Given the description of an element on the screen output the (x, y) to click on. 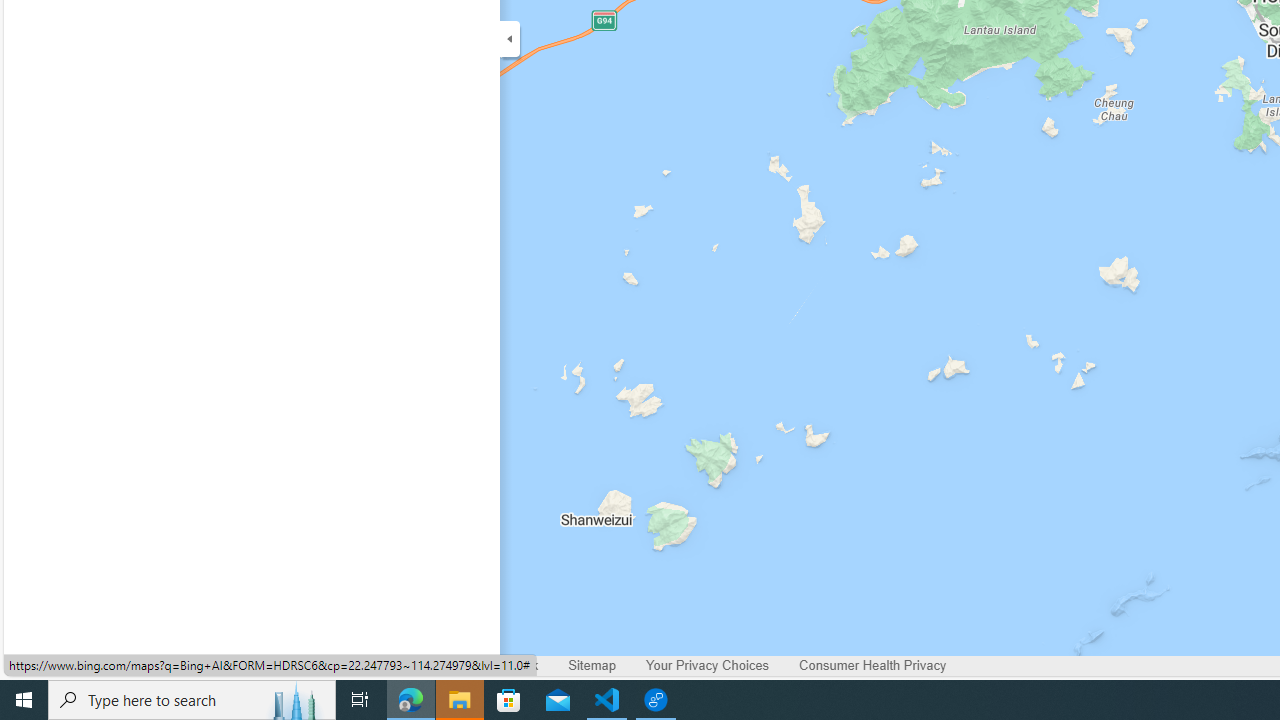
Privacy and Cookies (78, 665)
Sitemap (592, 665)
Legal (182, 665)
Advertise (256, 665)
